Given the description of an element on the screen output the (x, y) to click on. 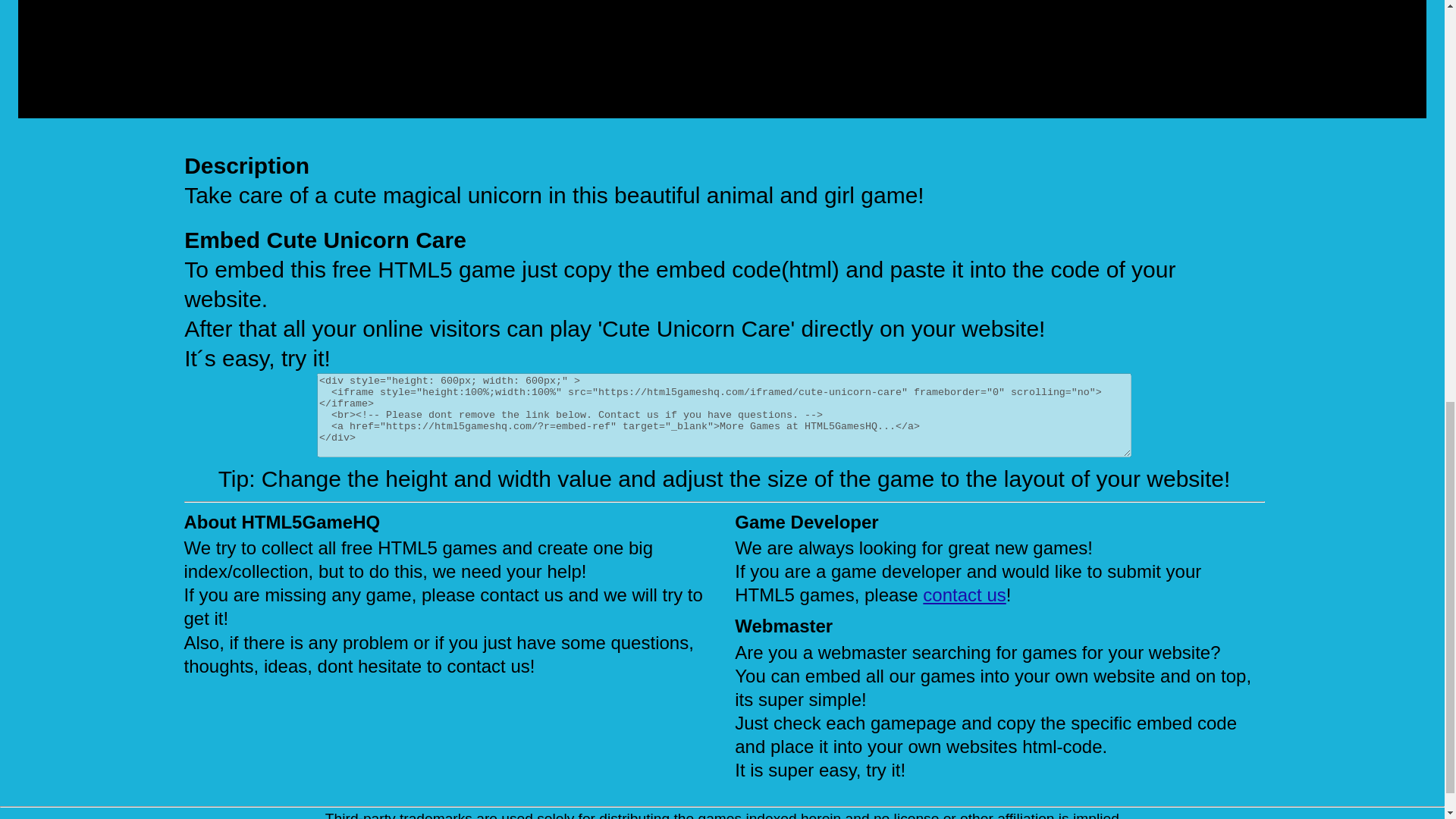
contact us (964, 594)
